Given the description of an element on the screen output the (x, y) to click on. 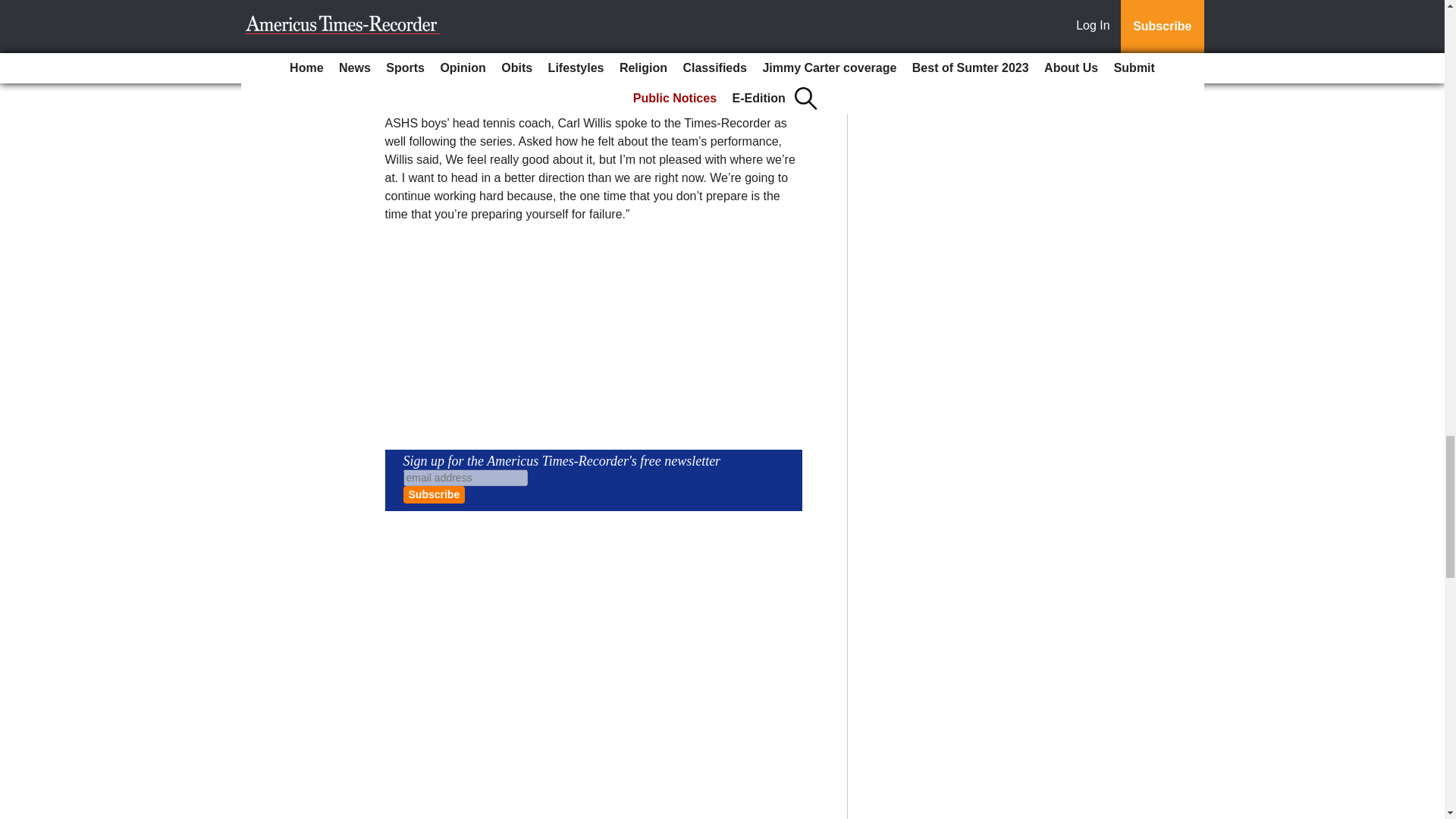
Subscribe (434, 494)
Subscribe (434, 494)
